Given the description of an element on the screen output the (x, y) to click on. 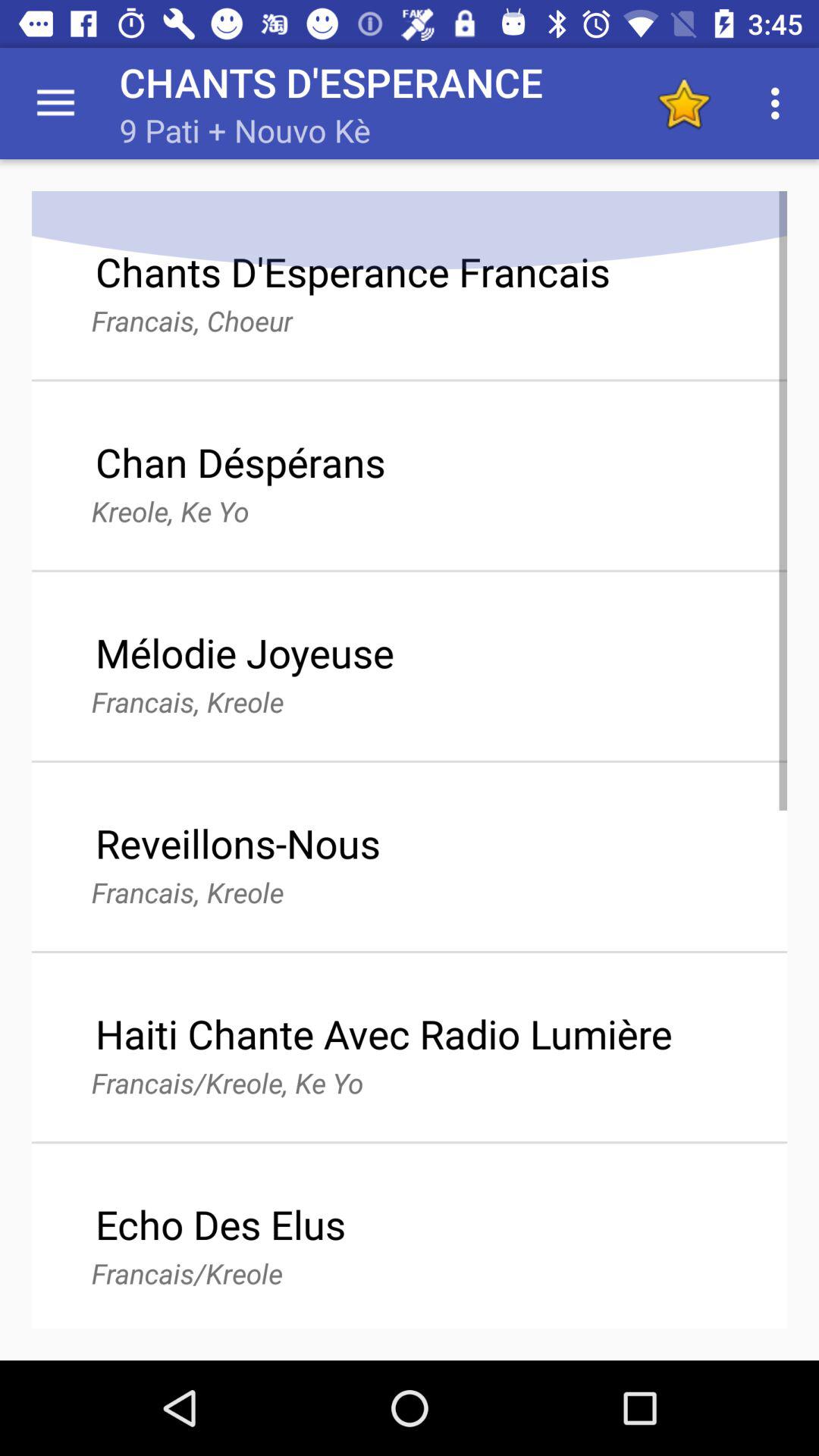
click icon above the kreole, ke yo icon (240, 461)
